Given the description of an element on the screen output the (x, y) to click on. 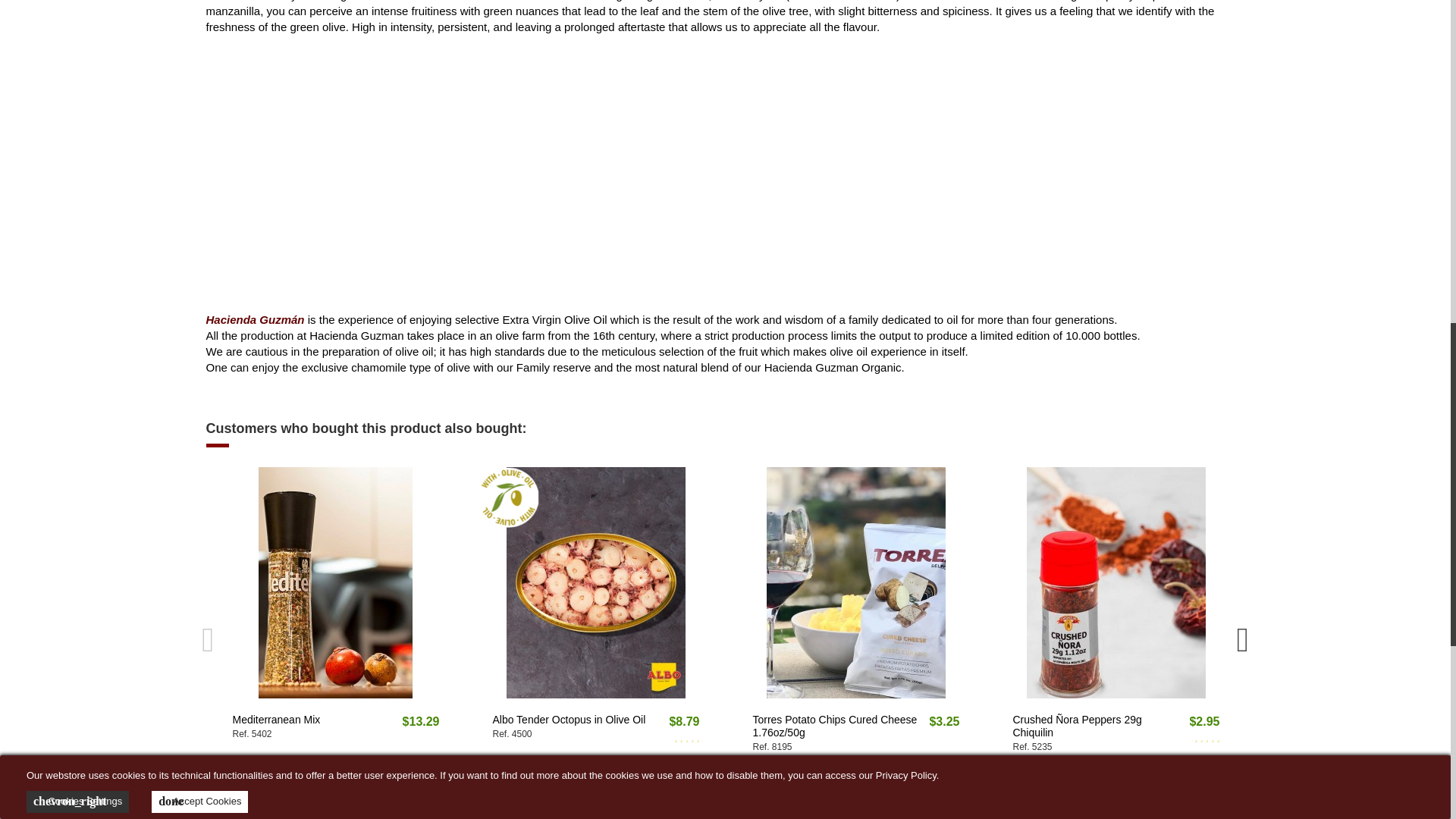
1 (1058, 782)
1 (537, 782)
1 (278, 782)
1 (798, 782)
